Given the description of an element on the screen output the (x, y) to click on. 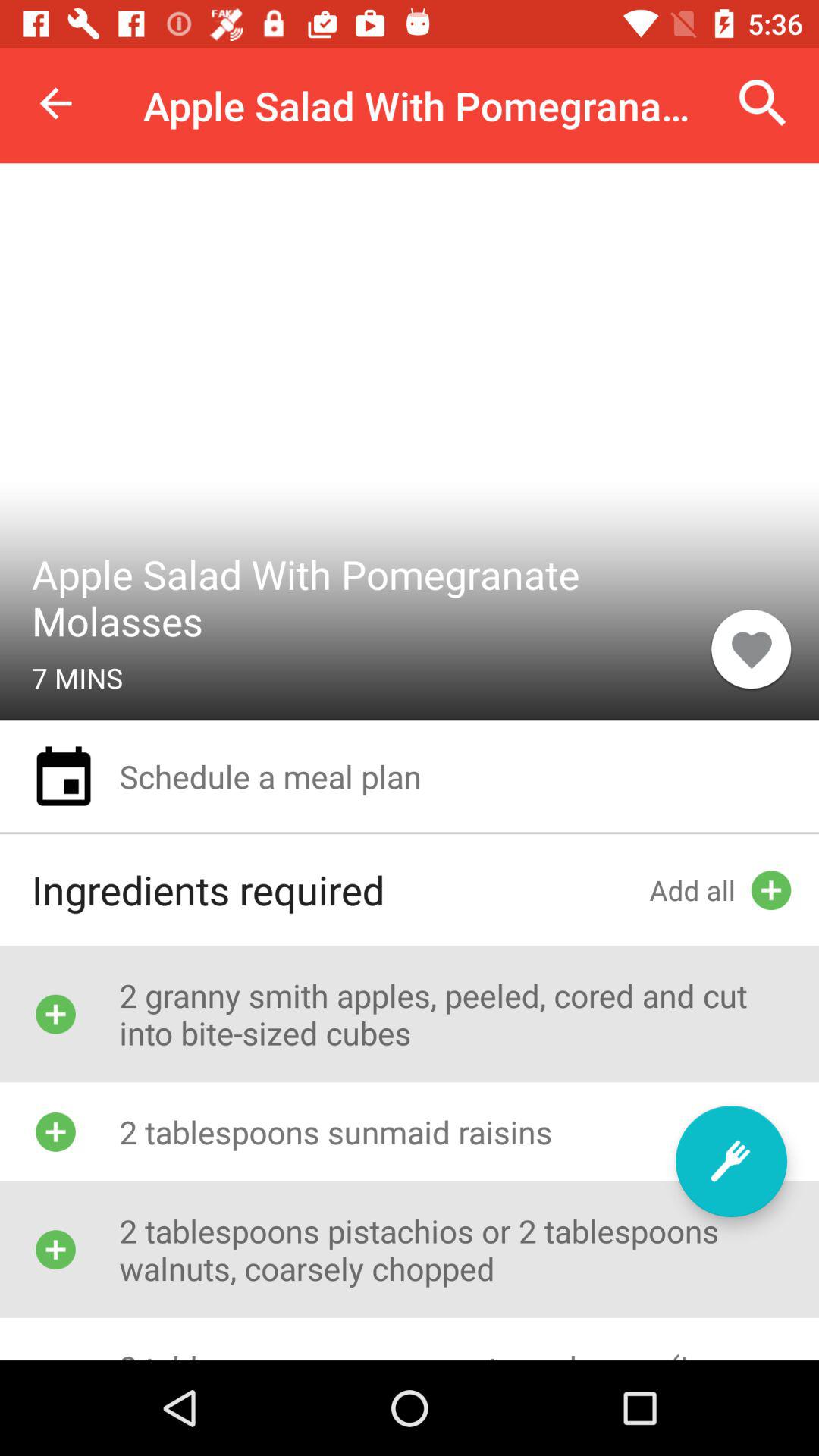
open the item next to the apple salad with item (55, 103)
